Given the description of an element on the screen output the (x, y) to click on. 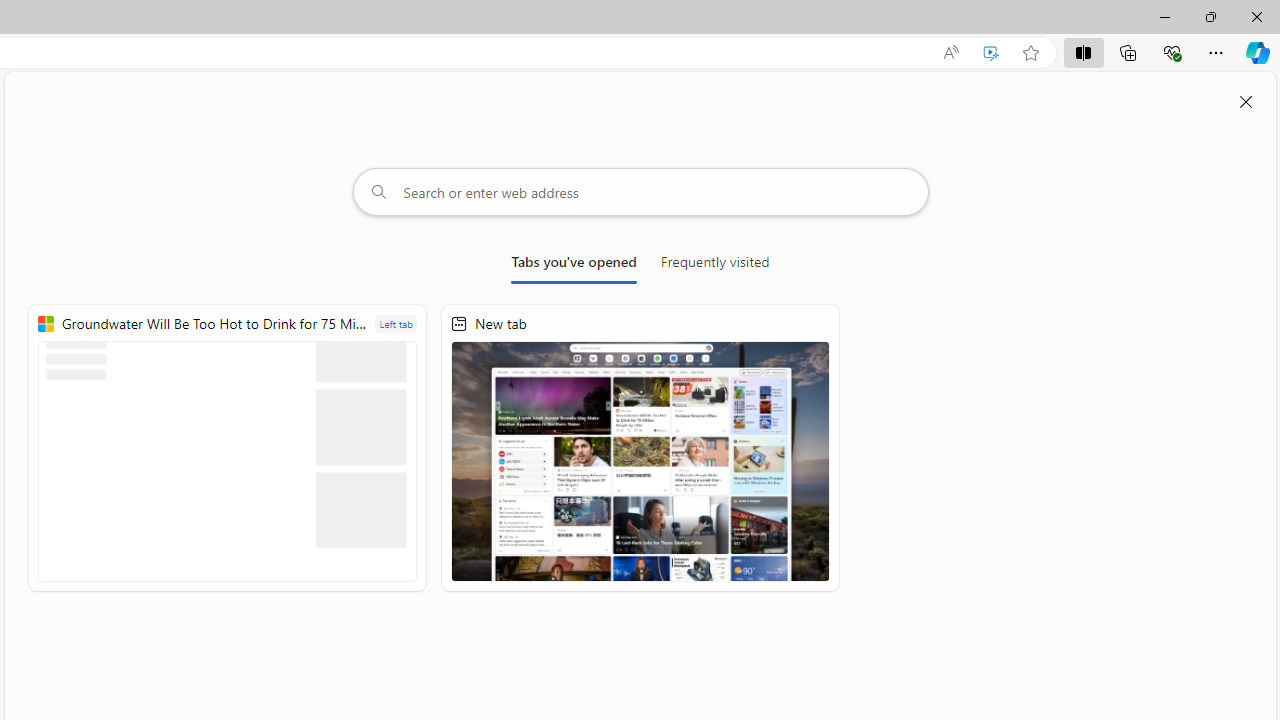
Search or enter web address (640, 191)
Frequently visited (715, 265)
Enhance video (991, 53)
